Given the description of an element on the screen output the (x, y) to click on. 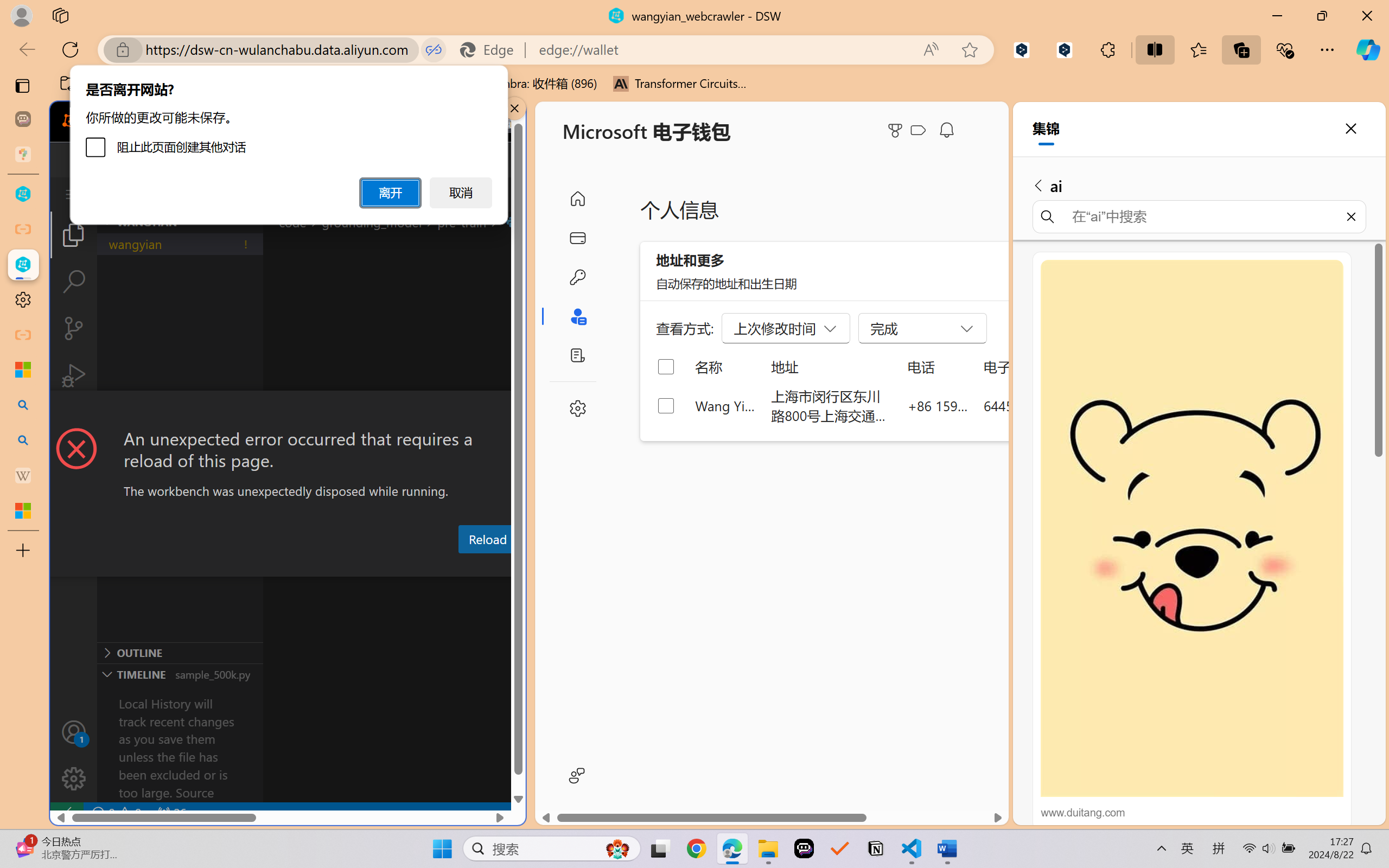
+86 159 0032 4640 (938, 405)
Wang Yian (725, 405)
Problems (Ctrl+Shift+M) (308, 565)
Google Chrome (696, 848)
